Given the description of an element on the screen output the (x, y) to click on. 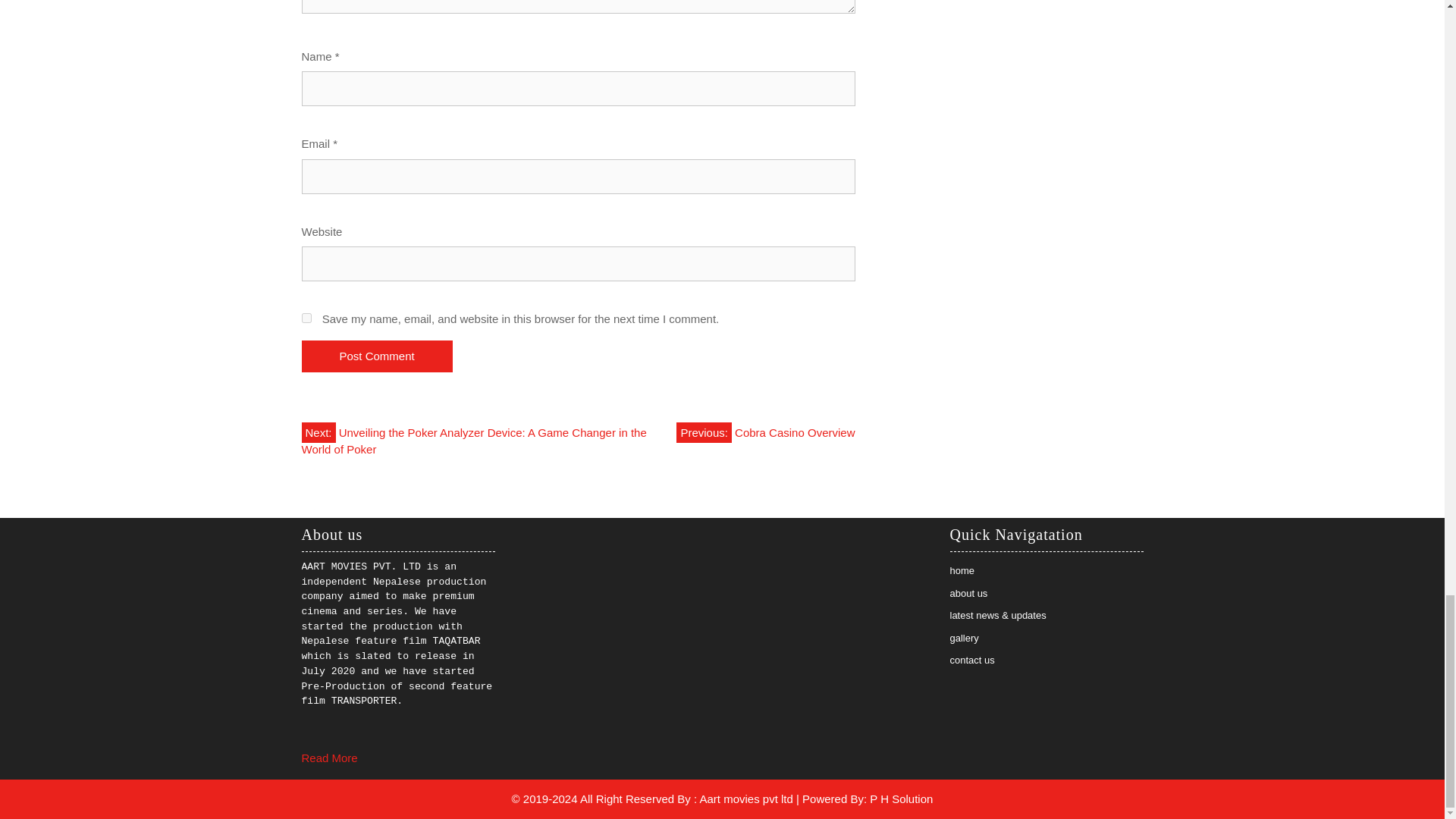
about us (968, 593)
yes (306, 317)
Post Comment (376, 356)
Read More (329, 757)
contact us (971, 659)
gallery (963, 637)
Previous: Cobra Casino Overview (765, 432)
home (961, 570)
Post Comment (376, 356)
